Given the description of an element on the screen output the (x, y) to click on. 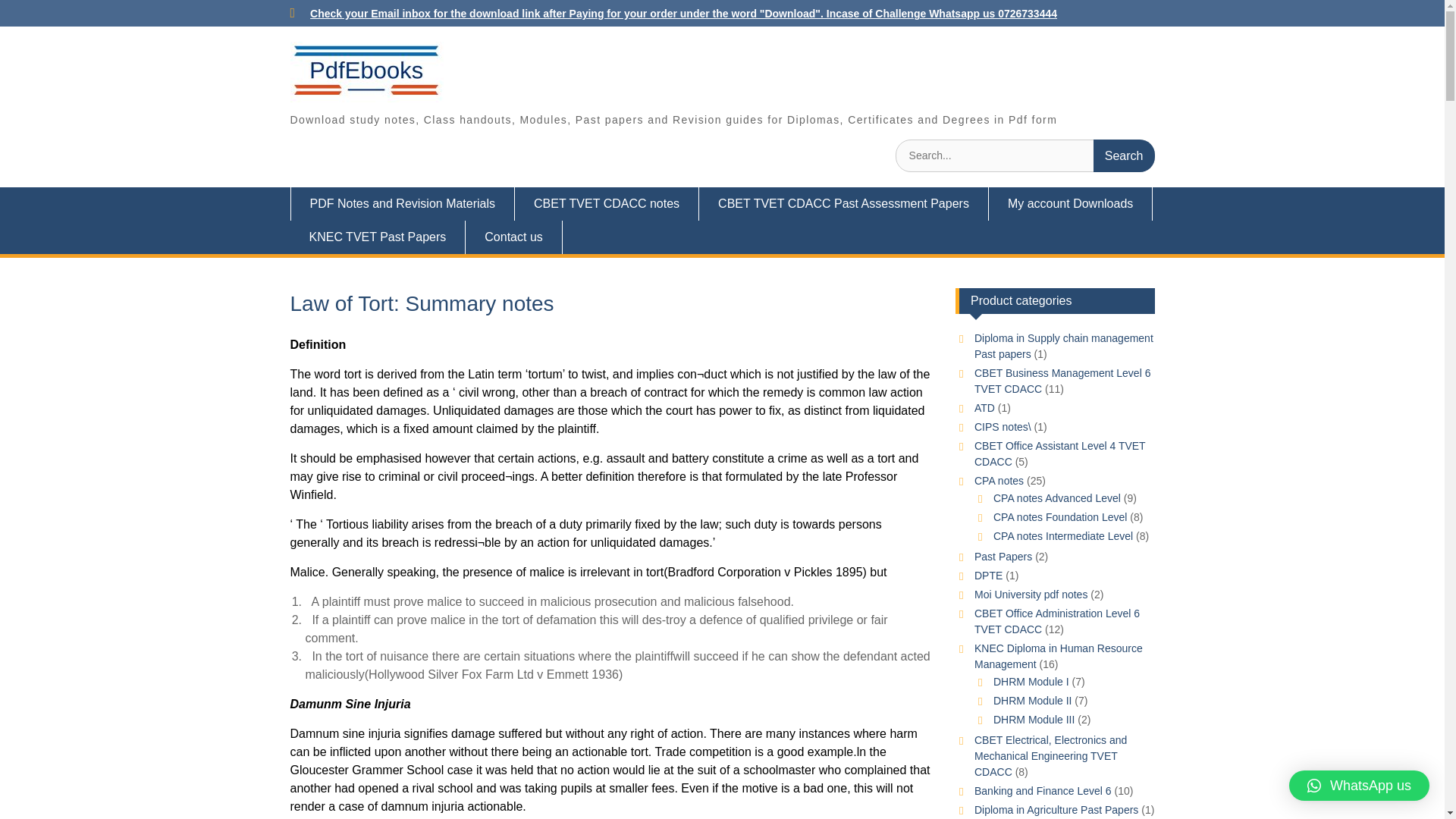
ATD (984, 408)
CPA notes Advanced Level (1056, 498)
Past Papers (1003, 556)
CBET Office Administration Level 6 TVET CDACC (1057, 621)
Search (1123, 155)
My account Downloads (1070, 203)
CBET Office Assistant Level 4 TVET CDACC (1059, 453)
CBET TVET CDACC Past Assessment Papers (843, 203)
Search for: (1024, 155)
Moi University pdf notes (1030, 594)
Search (1123, 155)
CPA notes Foundation Level (1059, 517)
DHRM Module I (1030, 681)
Diploma in Supply chain management Past papers (1063, 346)
